Given the description of an element on the screen output the (x, y) to click on. 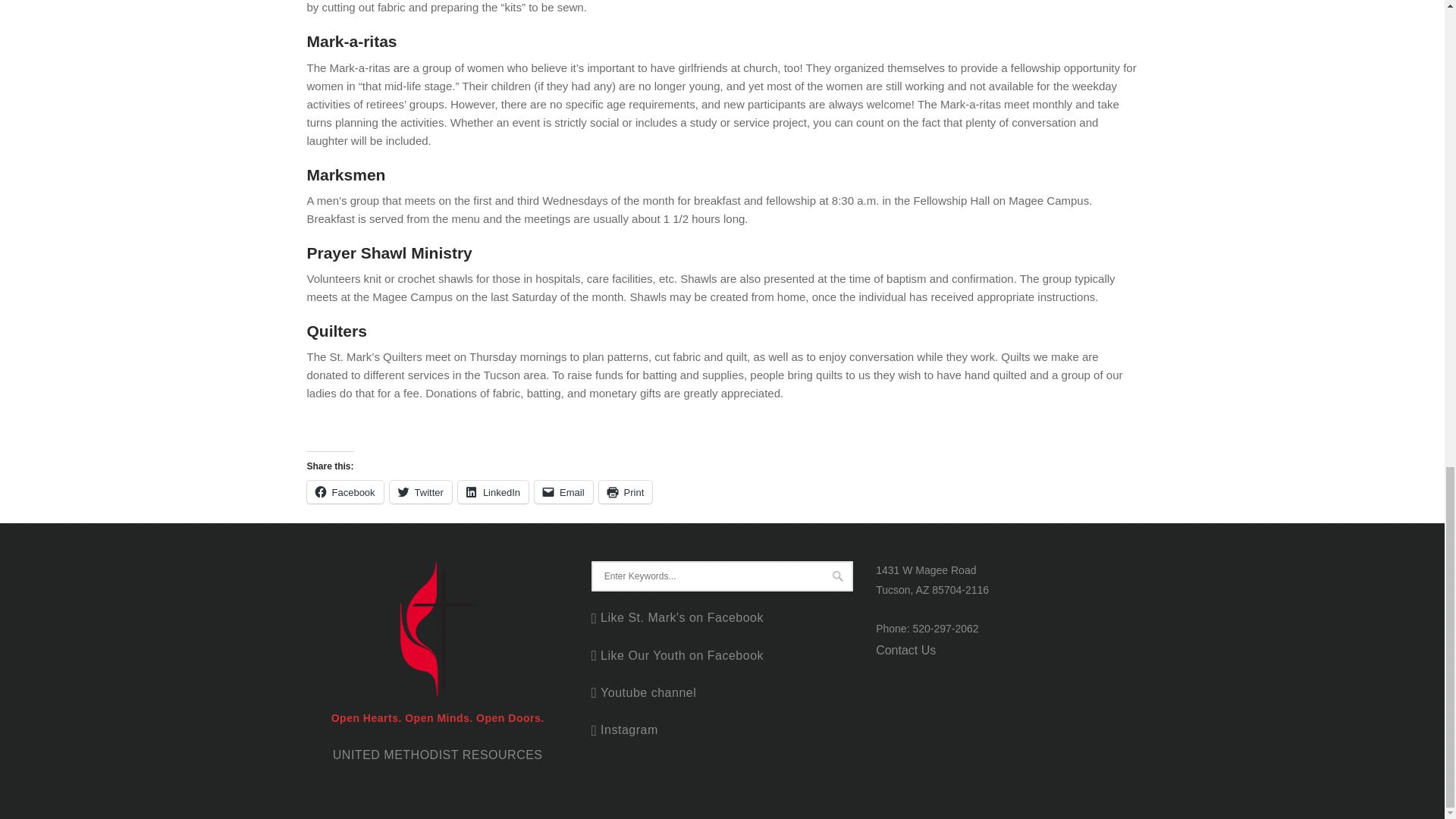
Click to print (625, 491)
Click to share on Facebook (343, 491)
Click to email a link to a friend (563, 491)
Click to share on Twitter (420, 491)
Click to share on LinkedIn (493, 491)
